Given the description of an element on the screen output the (x, y) to click on. 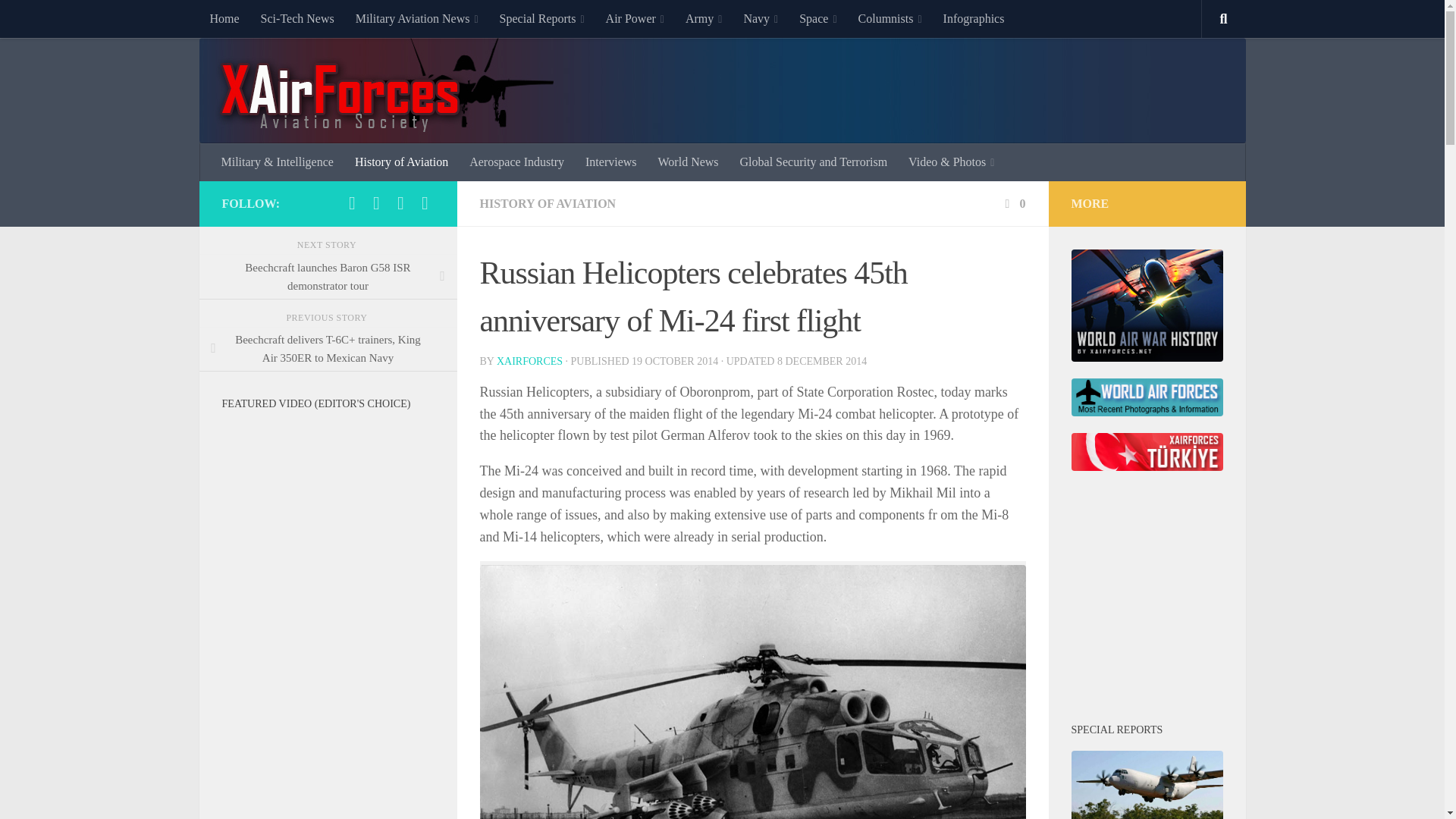
Follow us on Facebook (375, 203)
Follow us on Twitter (400, 203)
Posts by xairforces (529, 360)
Follow us on Google-plus (351, 203)
Skip to content (59, 20)
